Given the description of an element on the screen output the (x, y) to click on. 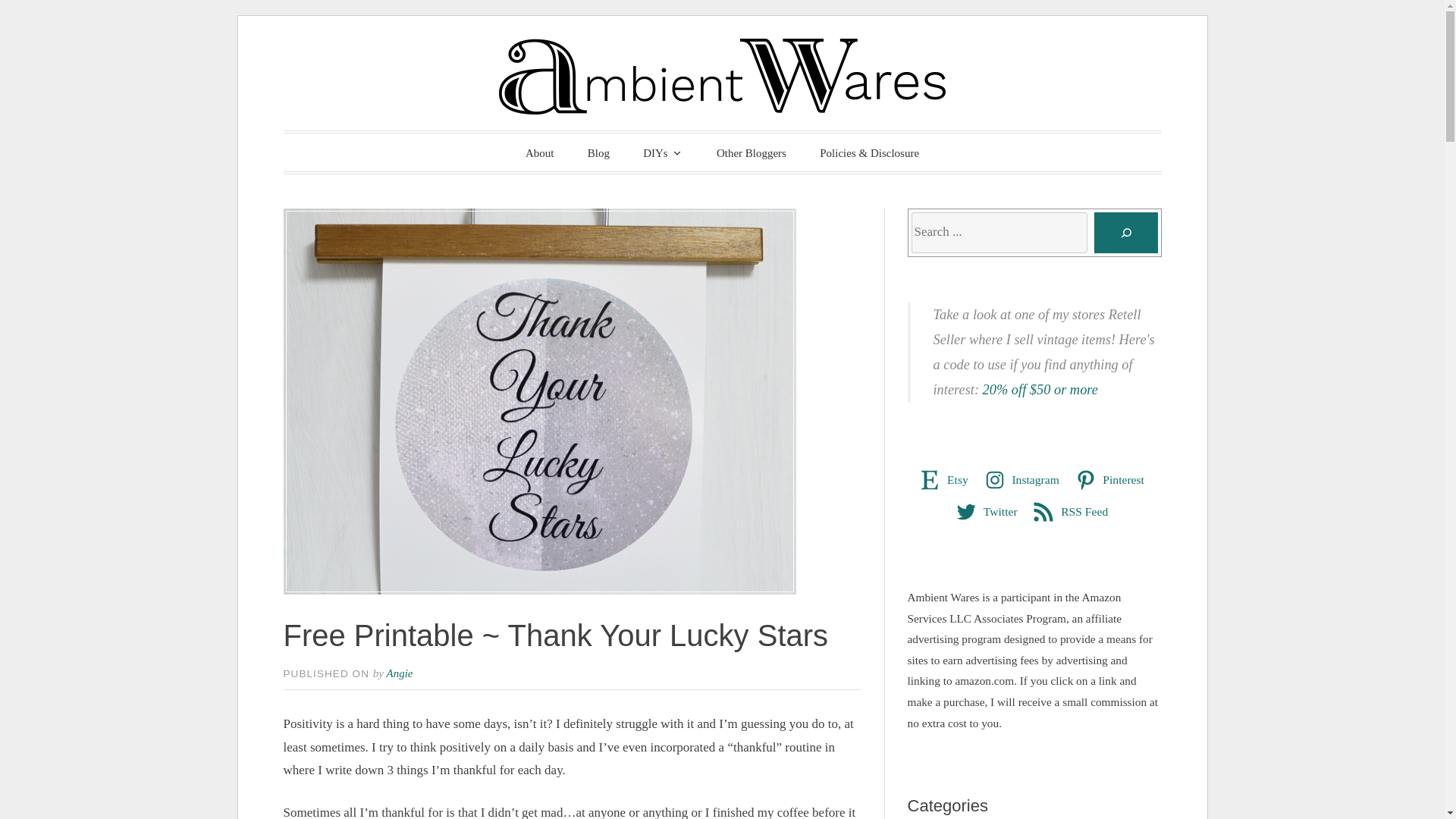
Blog (598, 153)
About (540, 153)
Other Bloggers (751, 153)
Angie (398, 673)
DIYs (662, 152)
